Given the description of an element on the screen output the (x, y) to click on. 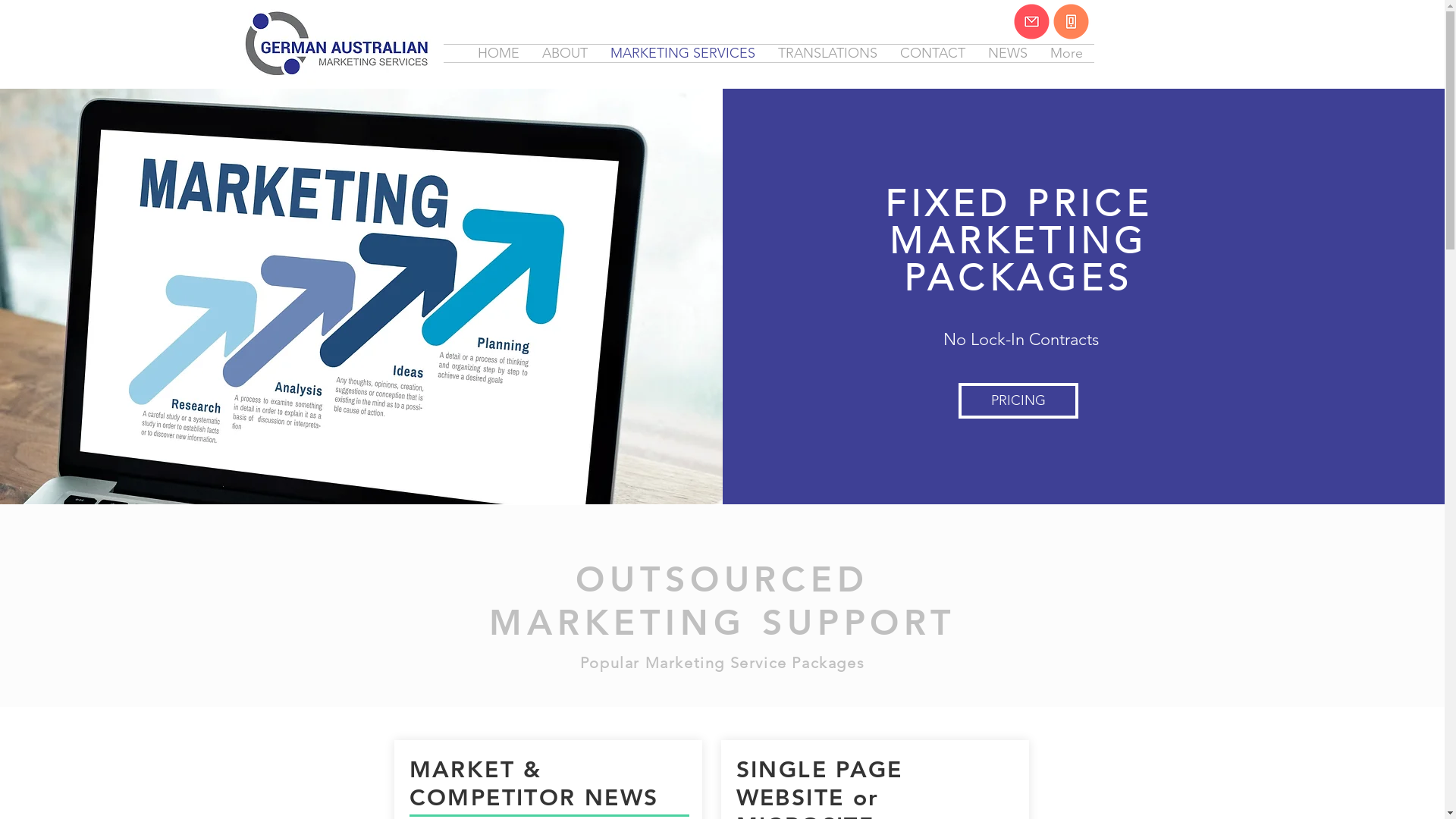
MARKETING SERVICES Element type: text (682, 53)
CONTACT Element type: text (932, 53)
NEWS Element type: text (1007, 53)
PRICING Element type: text (1018, 400)
TRANSLATIONS Element type: text (826, 53)
HOME Element type: text (497, 53)
ABOUT Element type: text (564, 53)
